Given the description of an element on the screen output the (x, y) to click on. 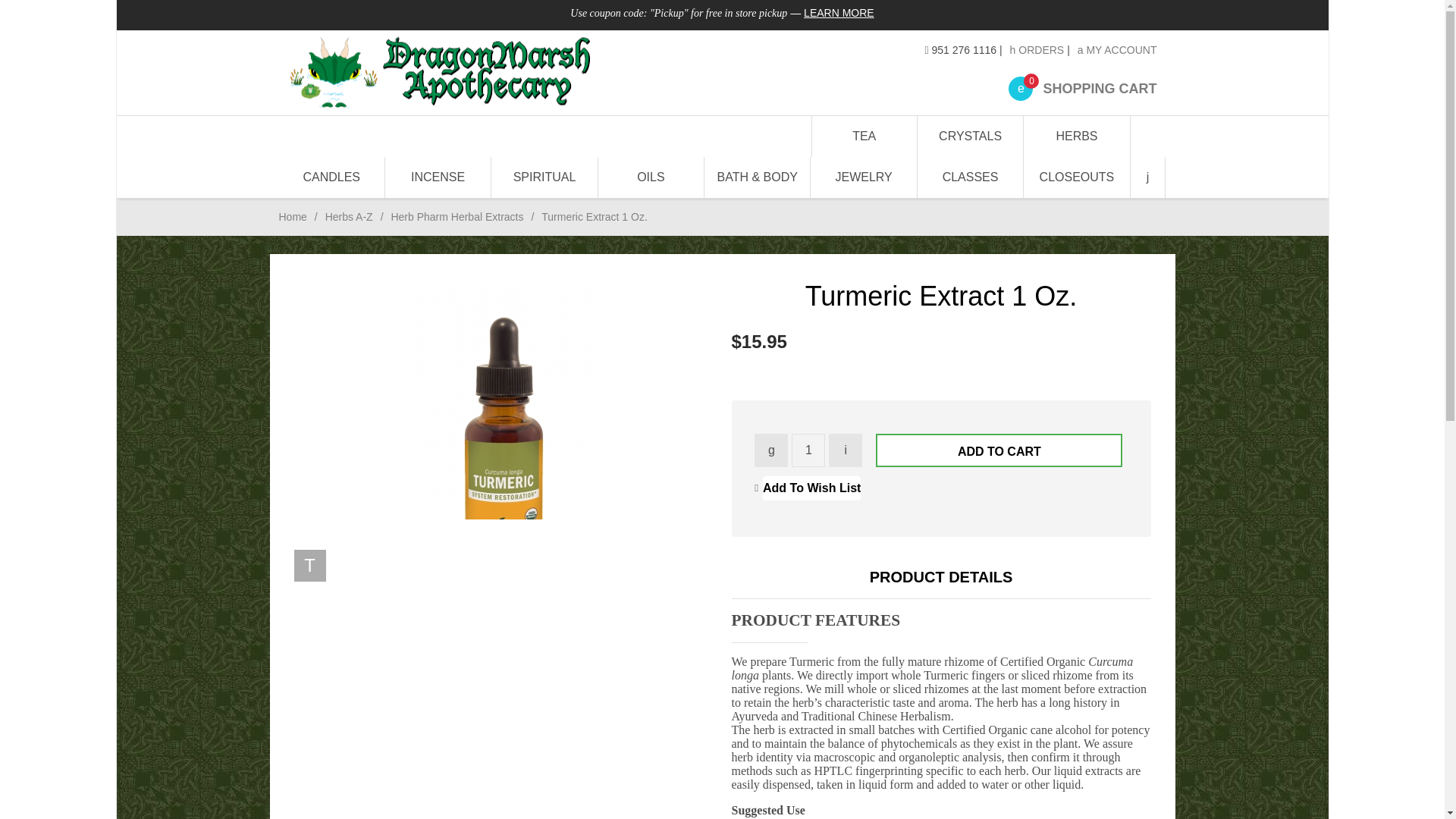
MY ACCOUNT (1117, 50)
CRYSTALS (970, 136)
CANDLES (332, 177)
TEA (863, 136)
DragonMarsh (1082, 87)
Add to Cart (544, 72)
Herb Pharm Herbal Extracts (999, 450)
Herbs A-Z (456, 216)
INCENSE (348, 216)
